Given the description of an element on the screen output the (x, y) to click on. 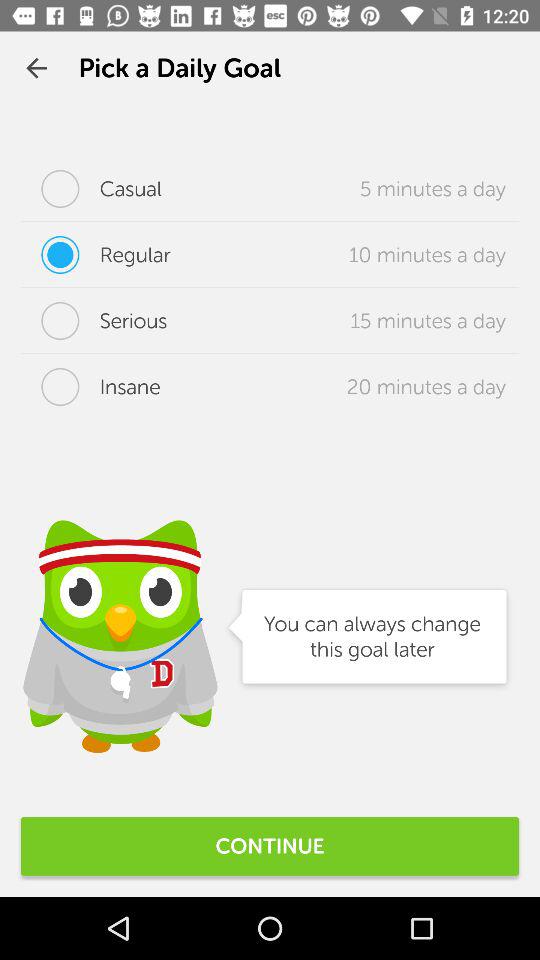
select the serious (94, 321)
